Given the description of an element on the screen output the (x, y) to click on. 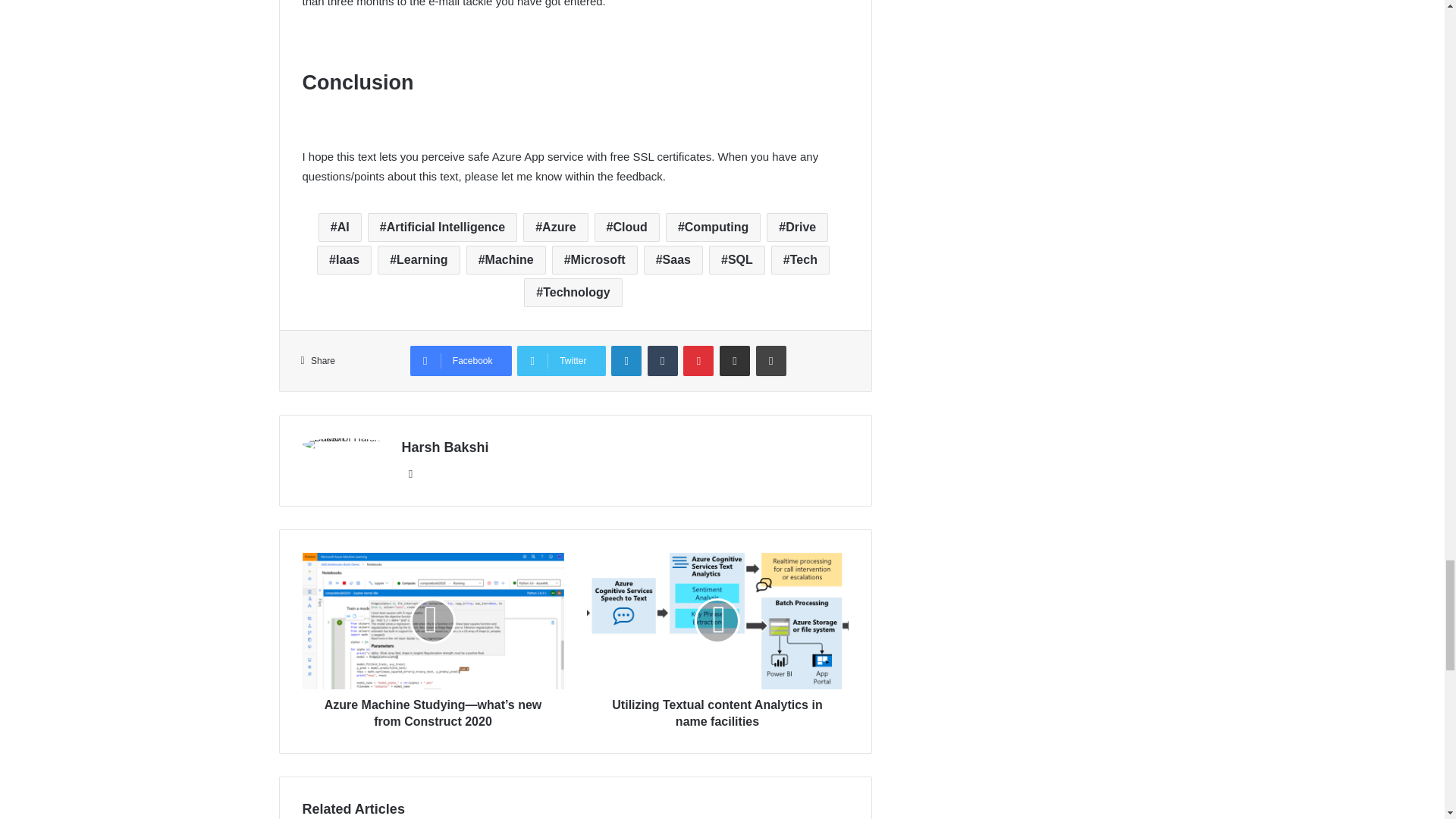
Machine (505, 259)
Azure (555, 226)
Tumblr (662, 360)
Share via Email (734, 360)
Iaas (344, 259)
Computing (712, 226)
Learning (418, 259)
AI (339, 226)
Pinterest (697, 360)
Facebook (461, 360)
Print (770, 360)
LinkedIn (626, 360)
Cloud (626, 226)
Drive (797, 226)
Twitter (560, 360)
